Given the description of an element on the screen output the (x, y) to click on. 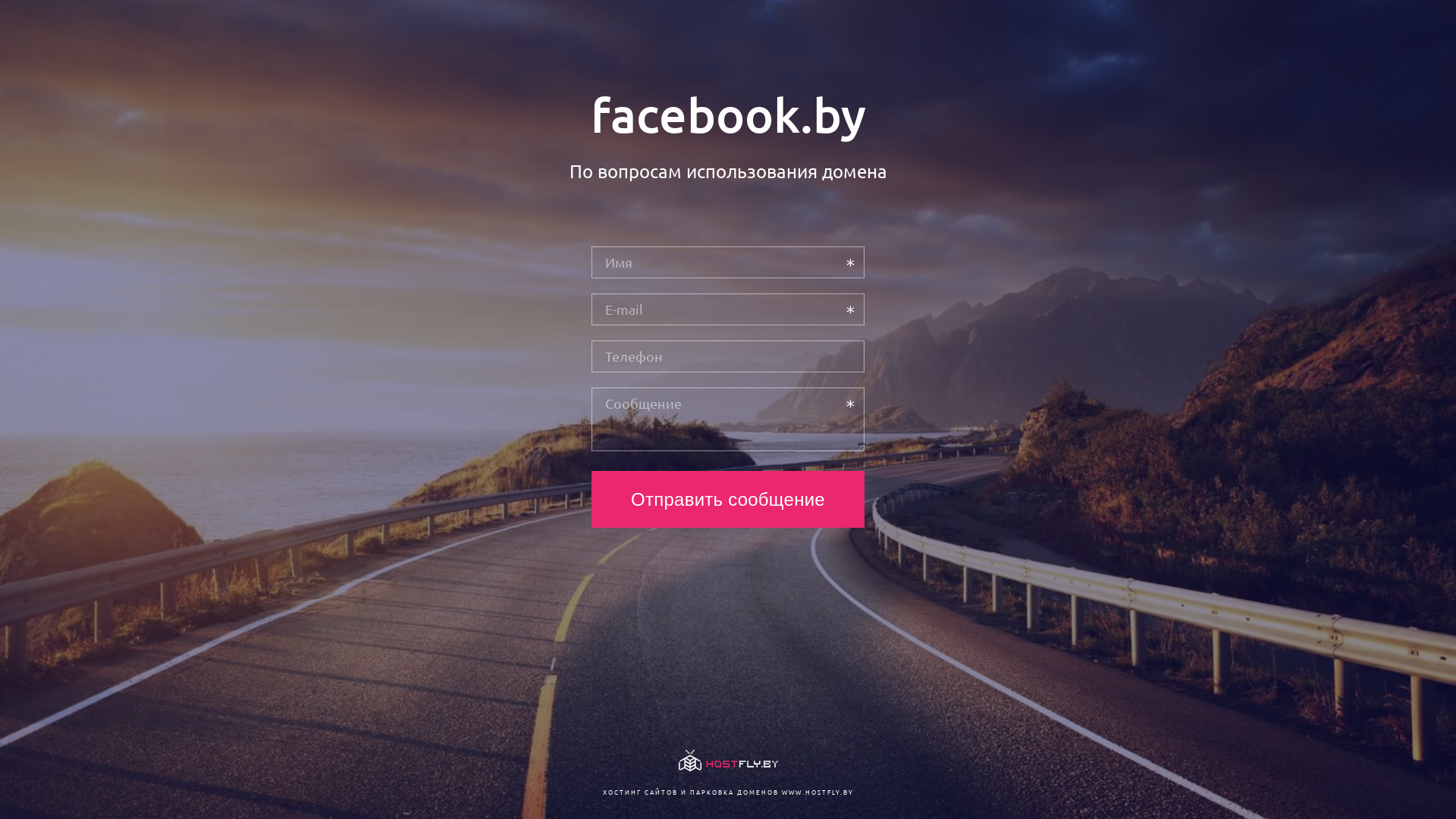
WWW.HOSTFLY.BY Element type: text (817, 791)
